Given the description of an element on the screen output the (x, y) to click on. 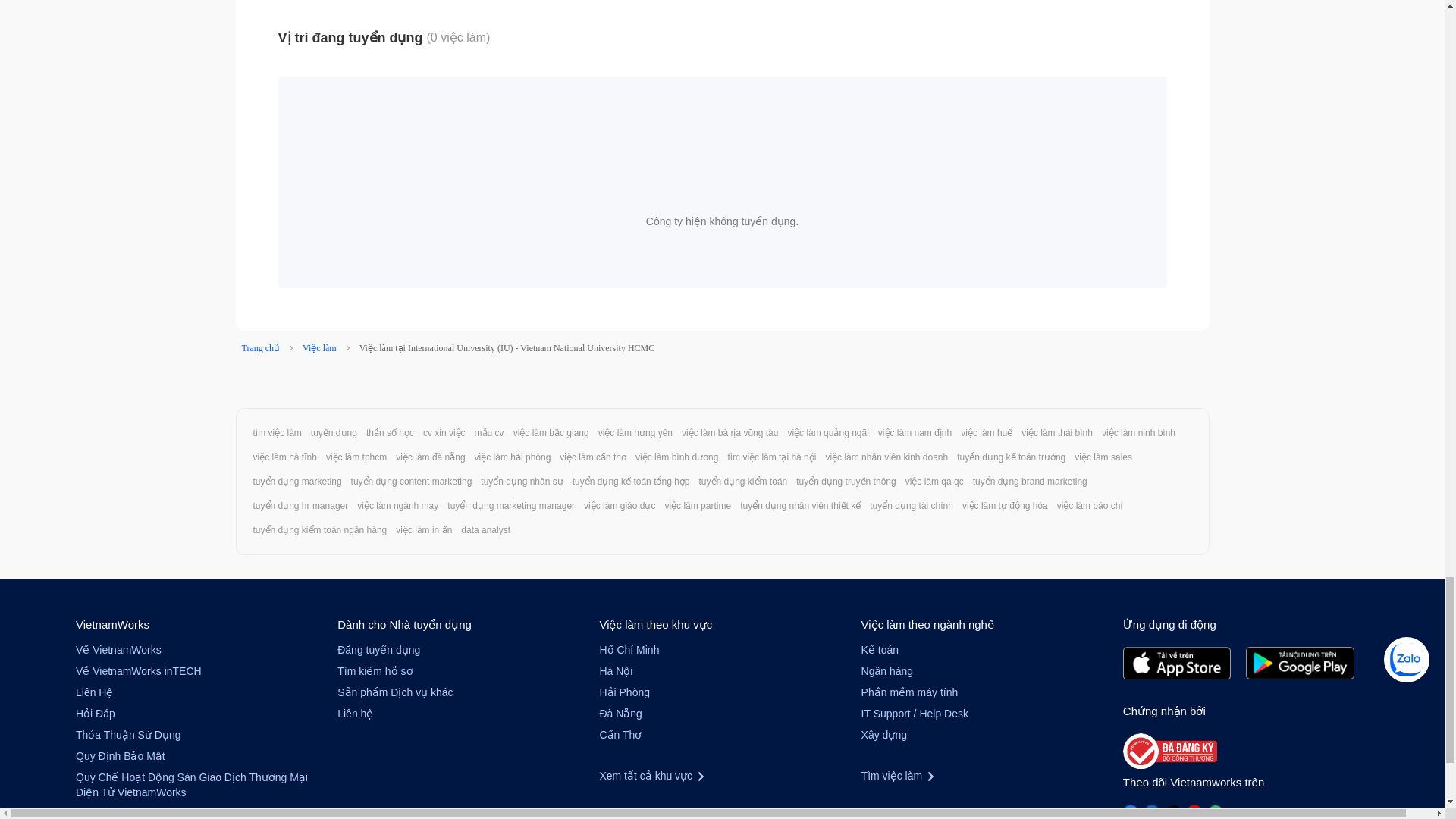
VietnamWorks's Linkedin (1151, 811)
VietnamWorks's Facebook (1130, 811)
VietnamWorks's Tiktok (1173, 811)
